Given the description of an element on the screen output the (x, y) to click on. 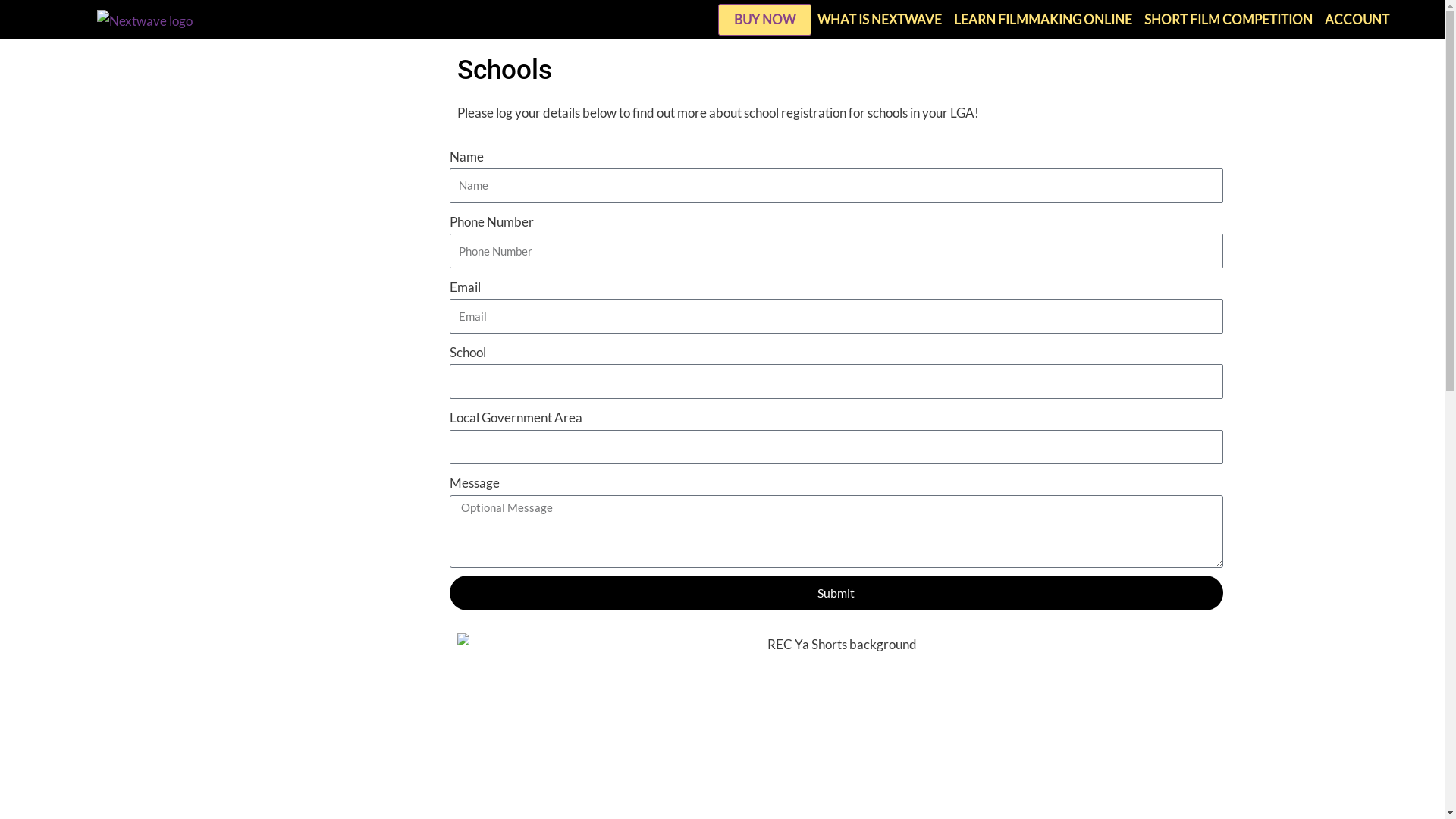
SHORT FILM COMPETITION Element type: text (1228, 19)
ACCOUNT Element type: text (1356, 19)
LEARN FILMMAKING ONLINE Element type: text (1042, 19)
WHAT IS NEXTWAVE Element type: text (879, 19)
Submit Element type: text (835, 592)
BUY NOW Element type: text (764, 19)
